Given the description of an element on the screen output the (x, y) to click on. 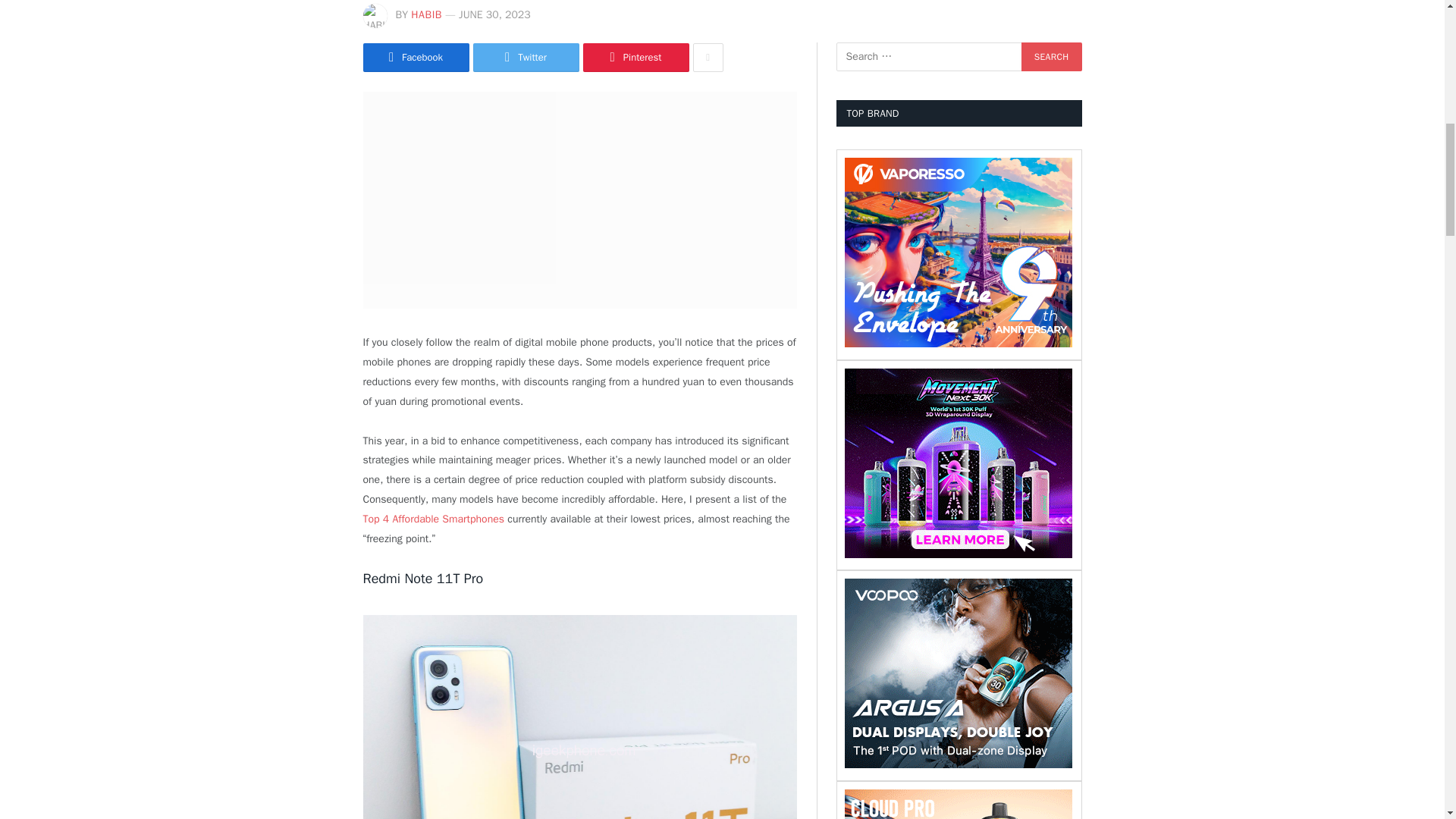
Share on Twitter (526, 57)
Posts by Habib (426, 14)
Show More Social Sharing (708, 57)
Share on Facebook (415, 57)
Search (1051, 56)
Search (1051, 56)
Share on Pinterest (635, 57)
